Given the description of an element on the screen output the (x, y) to click on. 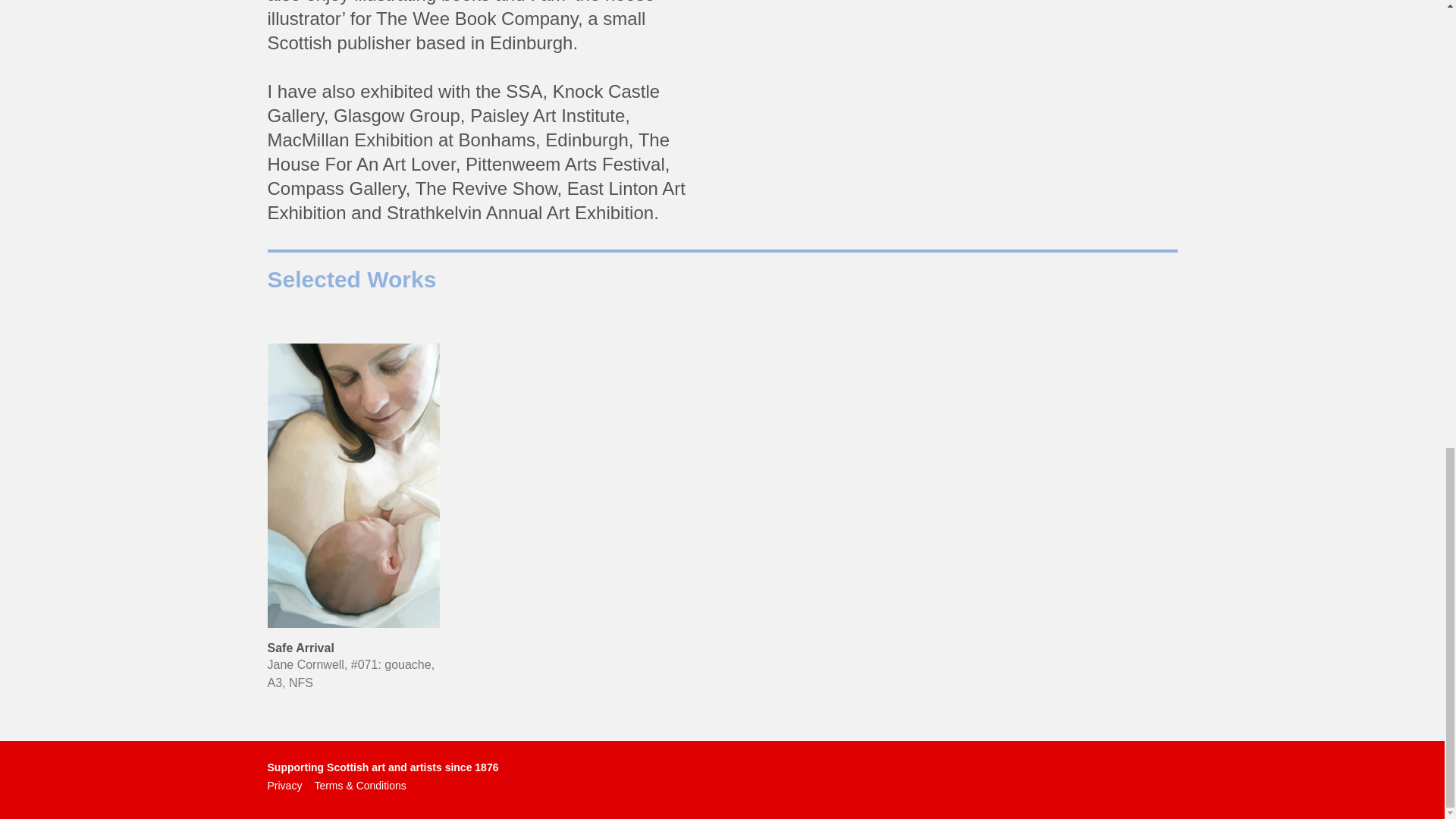
Privacy (283, 785)
